Given the description of an element on the screen output the (x, y) to click on. 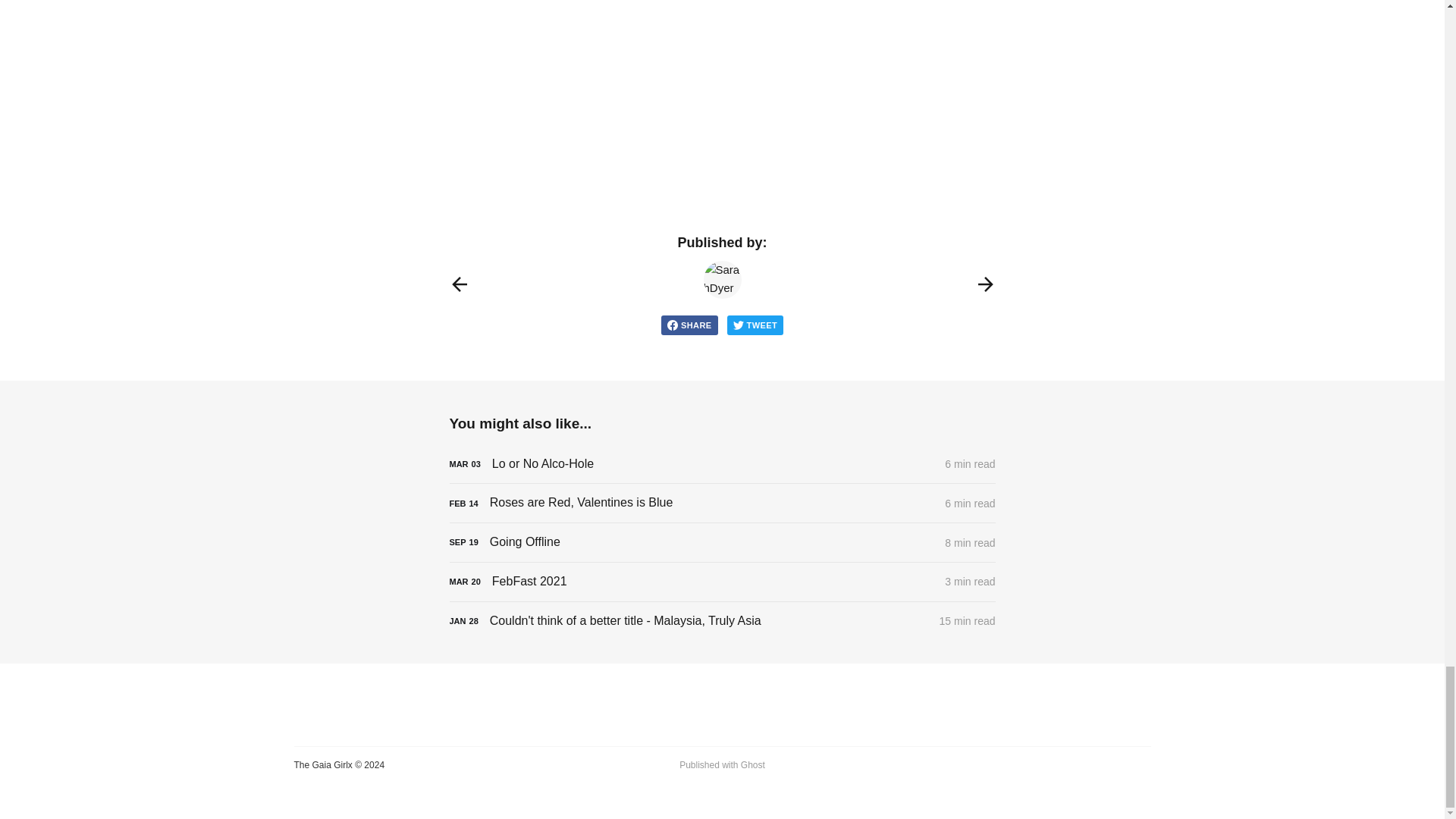
Published with Ghost (722, 765)
SHARE (689, 324)
TWEET (755, 324)
